Given the description of an element on the screen output the (x, y) to click on. 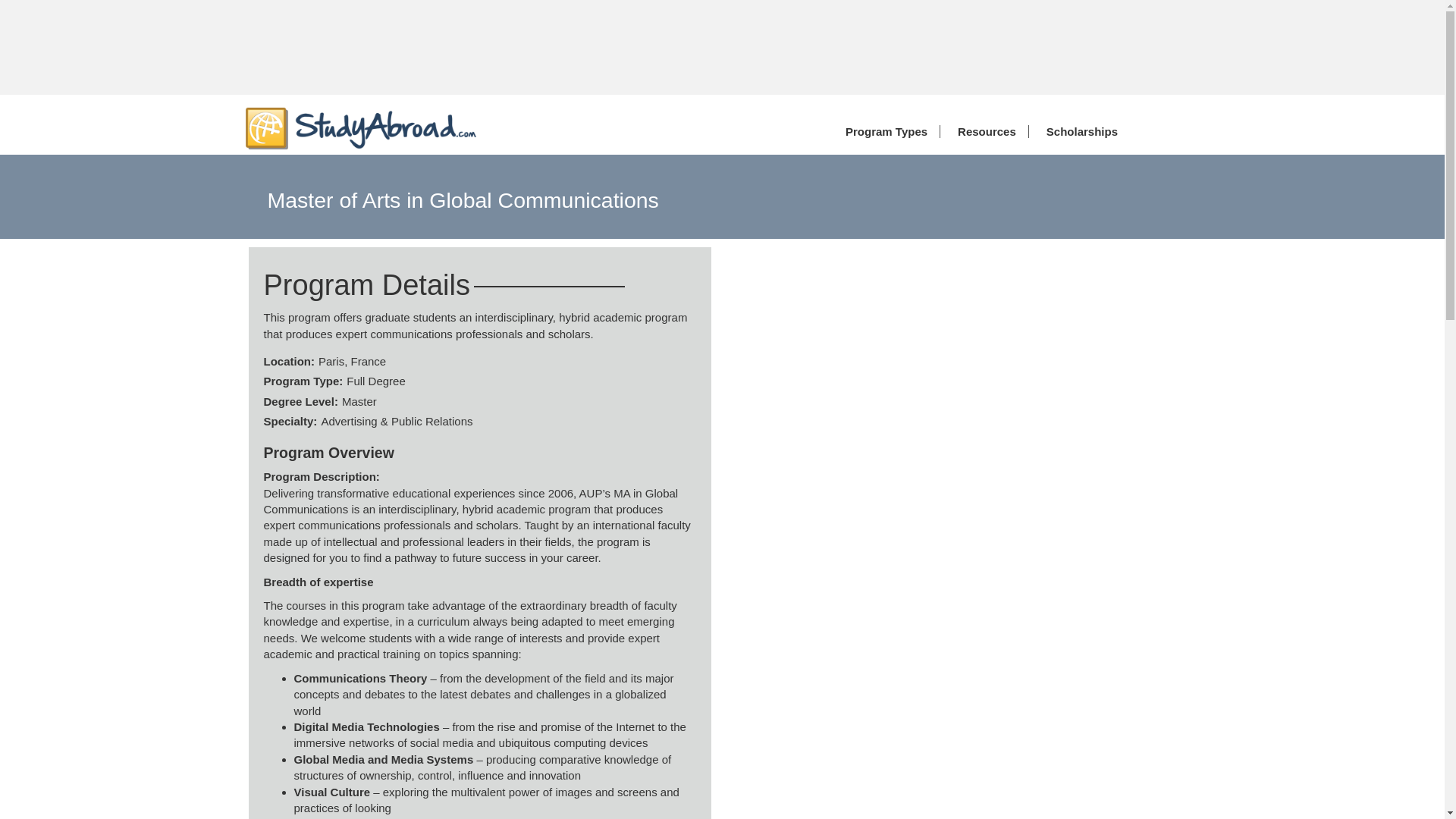
StudyAbroad.com (360, 126)
Advertisement (964, 320)
Resources (983, 131)
Scholarships (1078, 131)
Program Types (883, 131)
